Given the description of an element on the screen output the (x, y) to click on. 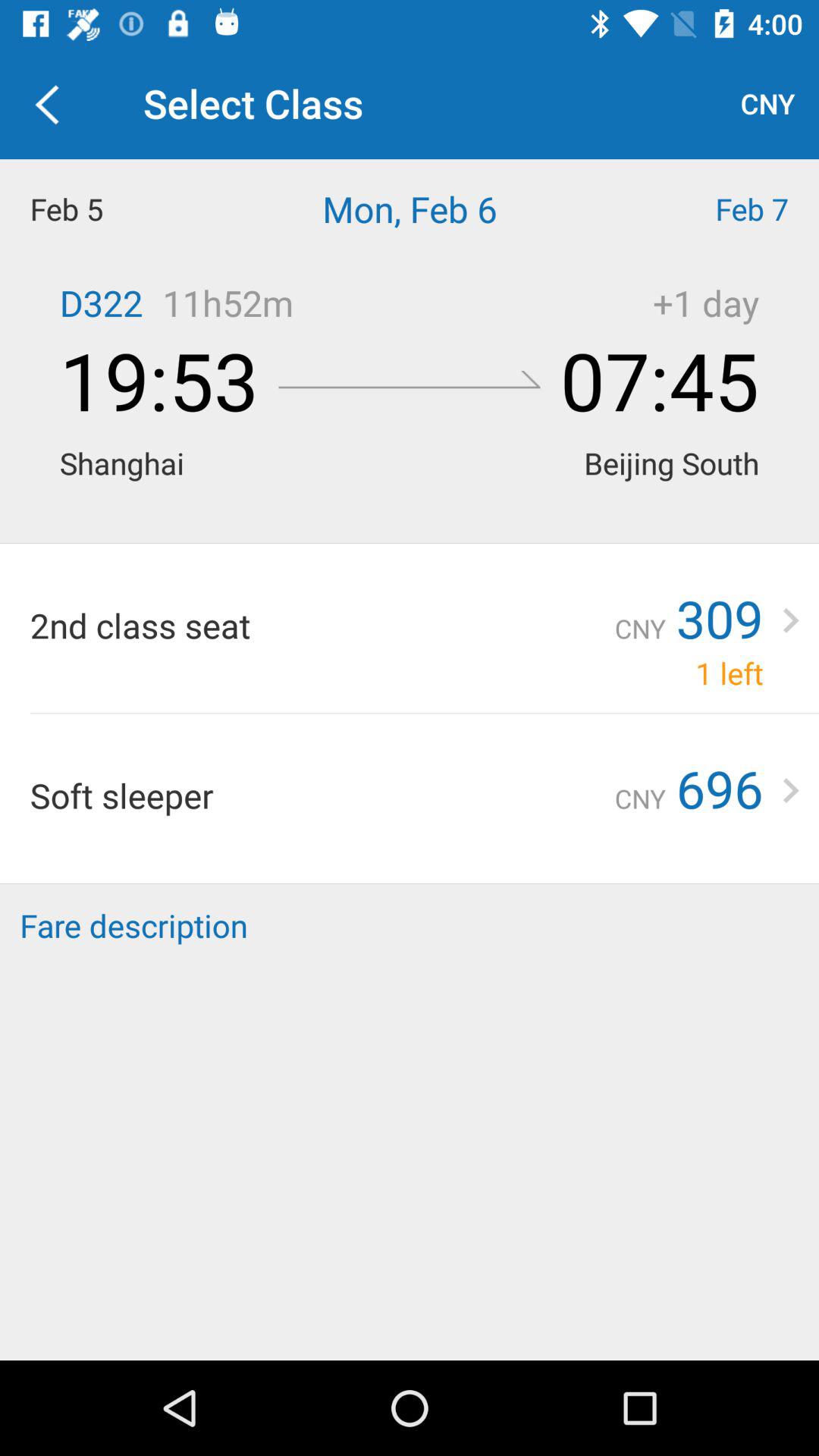
tap the icon above +1 day icon (716, 208)
